Given the description of an element on the screen output the (x, y) to click on. 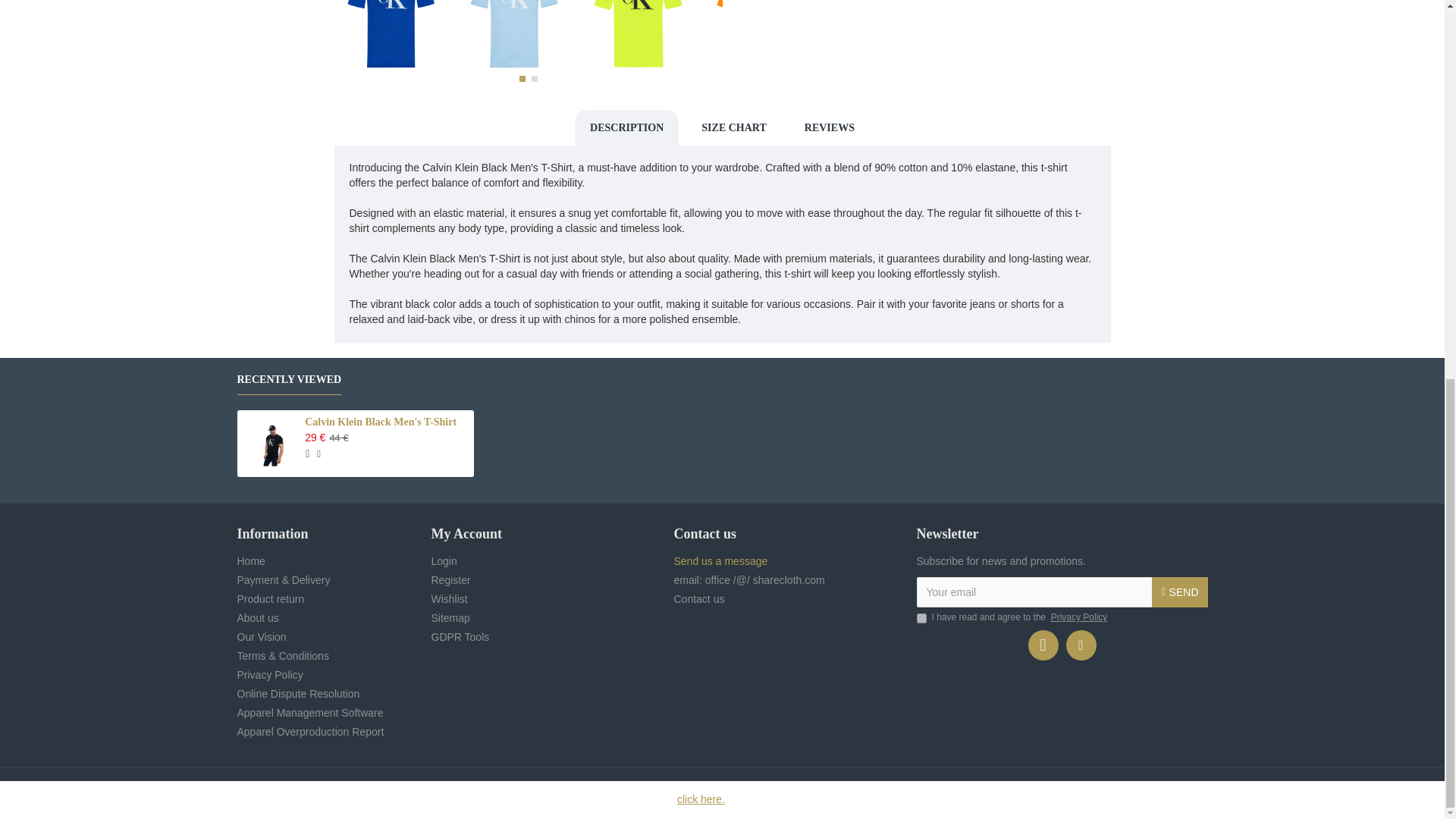
Calvin Klein Blue Men's T-Shirt (392, 35)
Calvin Klein Orange Men's T-Shirt (761, 35)
Calvin Klein Yellow Men's T-Shirt (637, 35)
Calvin Klein Light Blue Men's T-Shirt (515, 35)
1 (920, 618)
